Given the description of an element on the screen output the (x, y) to click on. 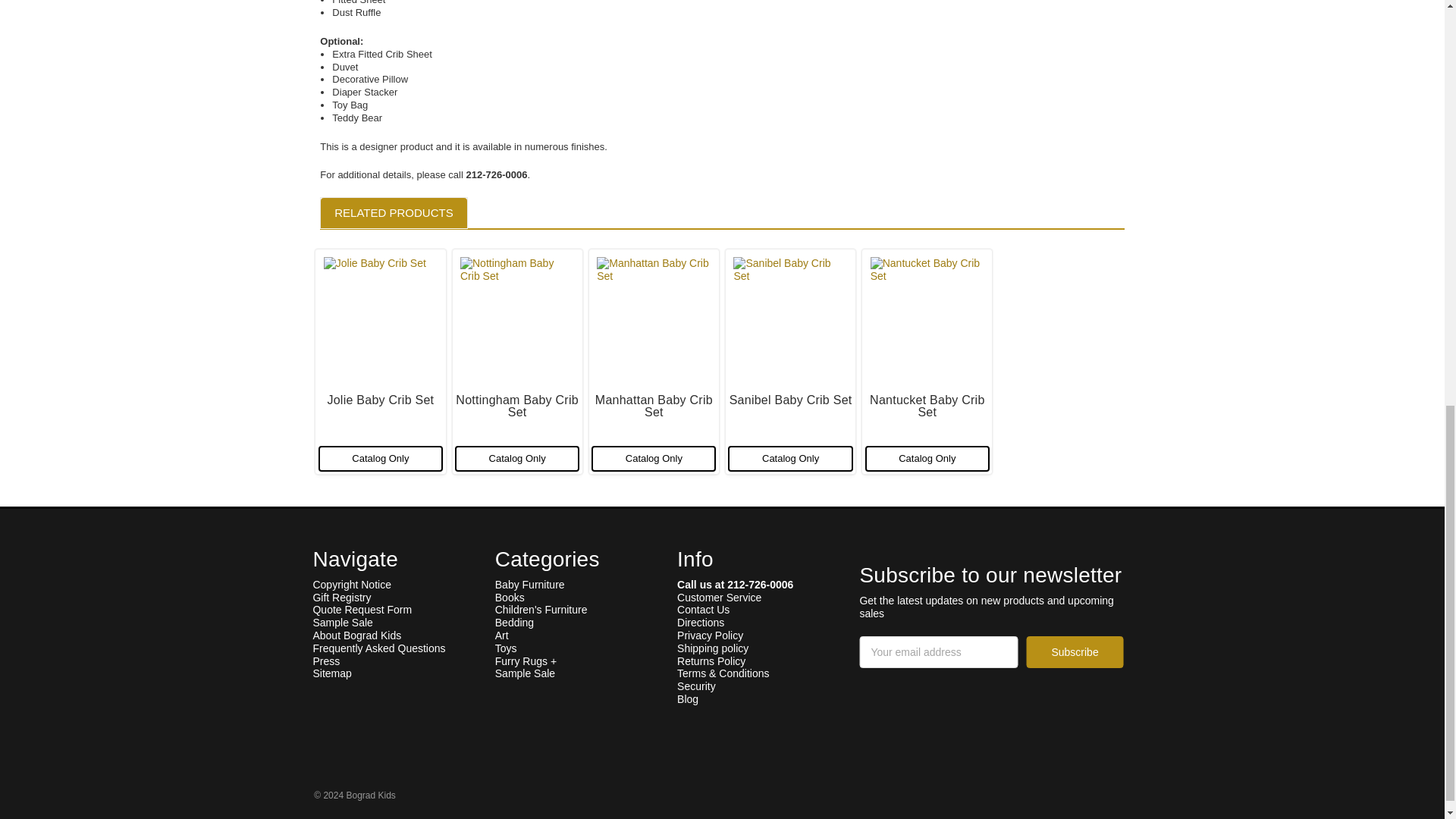
Manhattan Baby Crib Set (653, 318)
Jolie Baby Crib Set (380, 318)
Sanibel Baby Crib Set (790, 318)
Subscribe (1074, 652)
Nantucket Baby Crib Set (927, 318)
Nottingham Baby Crib Set (516, 318)
